Given the description of an element on the screen output the (x, y) to click on. 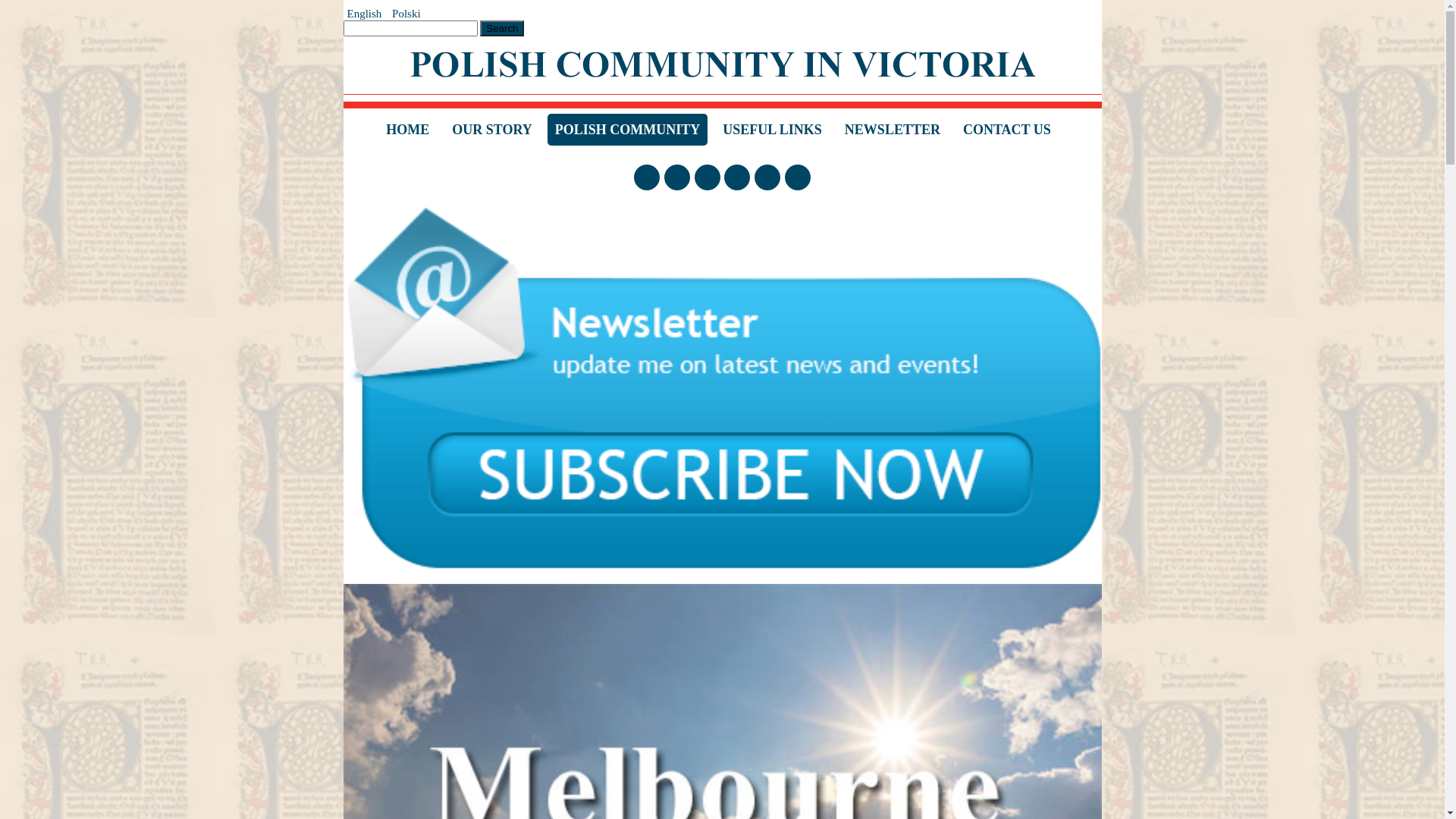
HOME Element type: text (407, 132)
NEWSLETTER Element type: text (892, 132)
Donate Element type: hover (767, 177)
Follow with Instagram Element type: hover (677, 177)
USEFUL LINKS Element type: text (772, 132)
Contact Us Element type: hover (797, 177)
POLISH COMMUNITY Element type: text (627, 132)
CONTACT US Element type: text (1007, 132)
Follow with Twitter Element type: hover (736, 177)
OUR STORY Element type: text (491, 132)
Polski Element type: text (406, 13)
Follow with YouTube Element type: hover (707, 177)
Follow with Facebook Element type: hover (646, 177)
Search Element type: text (502, 28)
English Element type: text (366, 13)
